Given the description of an element on the screen output the (x, y) to click on. 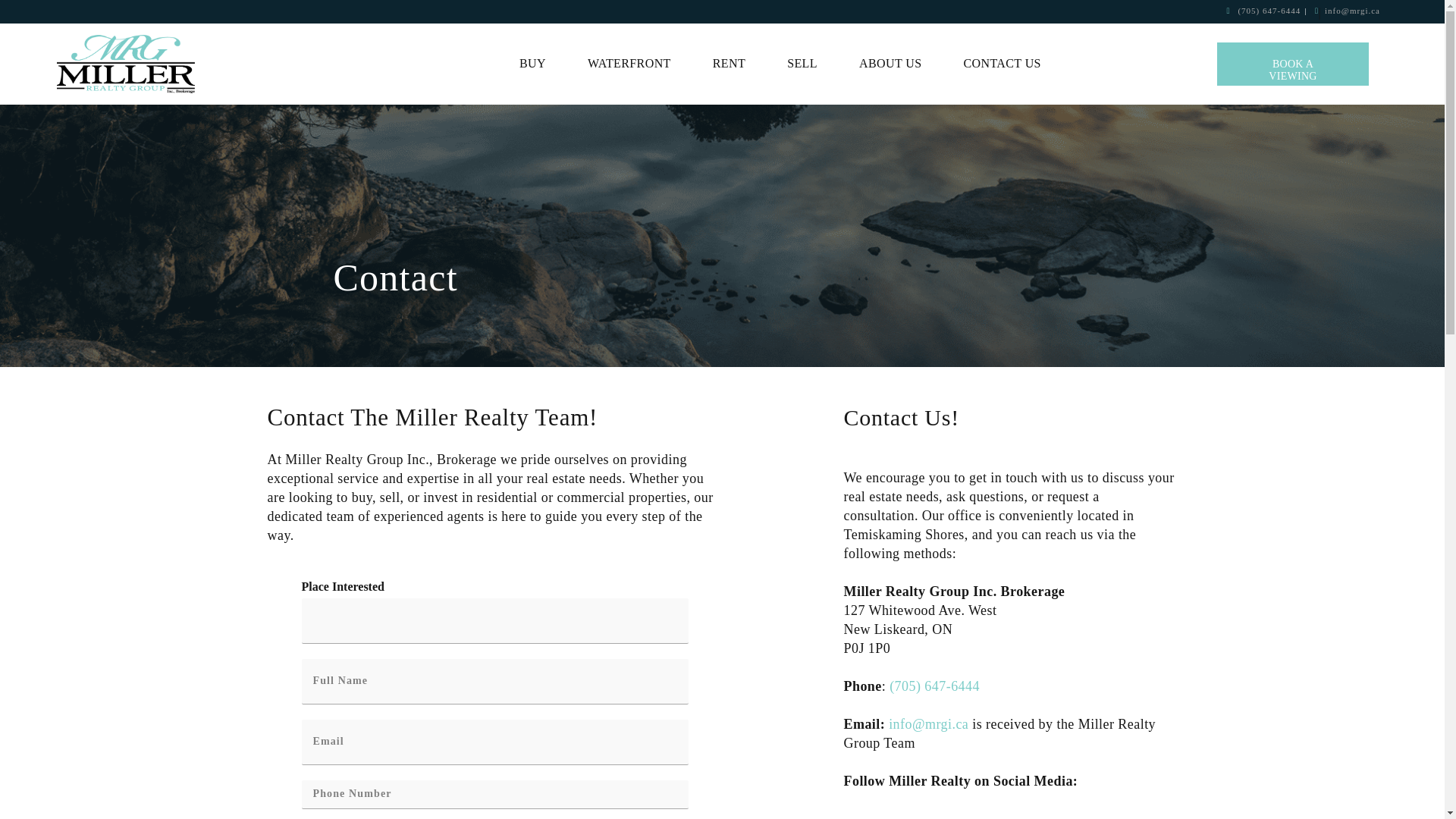
CONTACT US (1001, 63)
WATERFRONT (629, 63)
ABOUT US (890, 63)
BOOK A VIEWING (1292, 63)
